Given the description of an element on the screen output the (x, y) to click on. 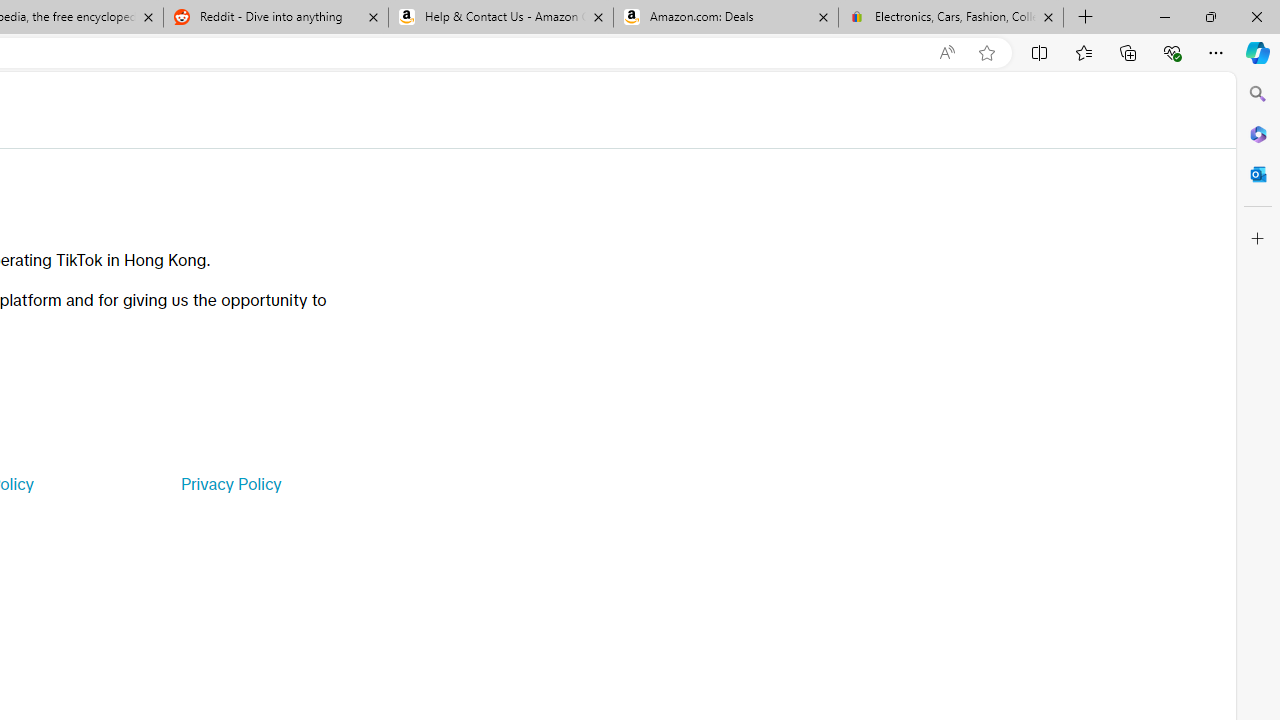
Amazon.com: Deals (726, 17)
Reddit - Dive into anything (275, 17)
Split screen (1039, 52)
Add this page to favorites (Ctrl+D) (986, 53)
Privacy Policy (230, 484)
Copilot (Ctrl+Shift+.) (1258, 52)
Read aloud this page (Ctrl+Shift+U) (946, 53)
